Given the description of an element on the screen output the (x, y) to click on. 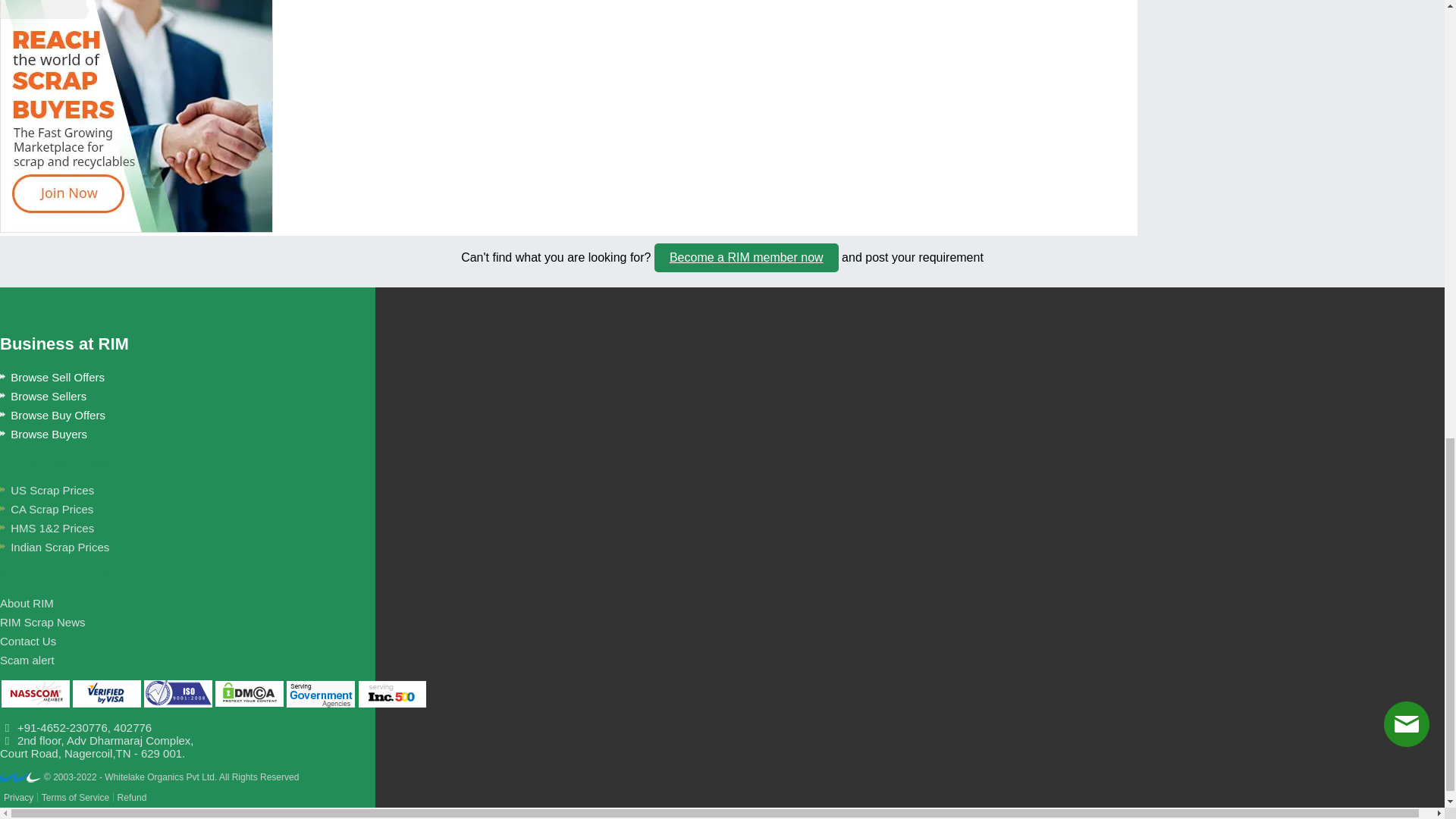
Become a RIM member now (745, 257)
Canada Scrap Prices (46, 508)
Browse Buy Offers (52, 414)
US Scrap Prices (47, 490)
Indian Scrap Prices (54, 546)
Browse Buyers (43, 433)
About RIM (26, 603)
Browse Sellers (42, 395)
RIM Relaunch Offer - Get Extra 2 Months (136, 116)
US Scrap Prices (47, 490)
US Plastic prices (54, 546)
Browse Sell Offers (52, 377)
CA Scrap Prices (46, 508)
